Given the description of an element on the screen output the (x, y) to click on. 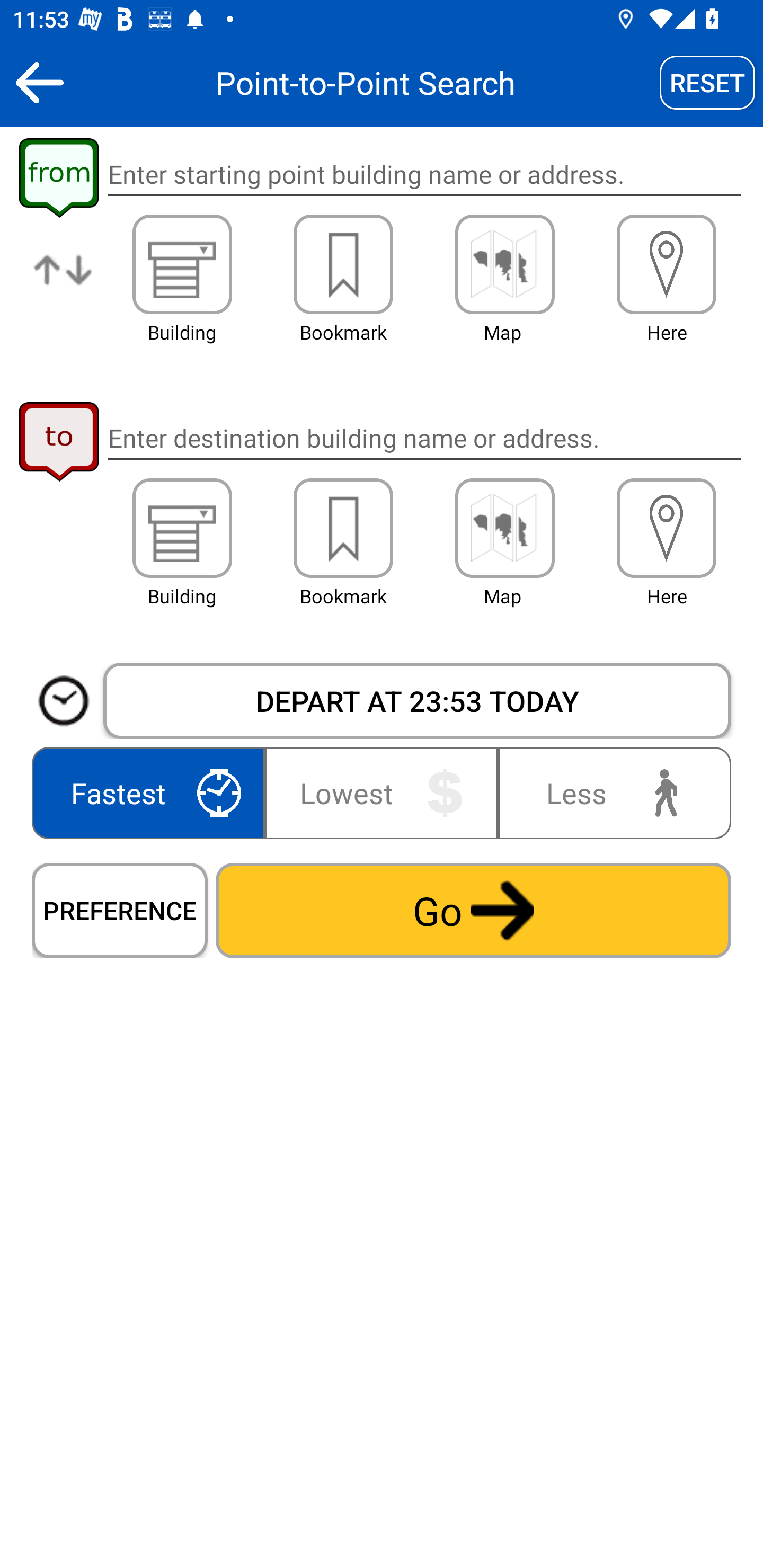
Back (39, 82)
RESET Reset (707, 81)
Enter starting point building name or address. (423, 174)
Building (181, 263)
Bookmarks (342, 263)
Select location on map (504, 263)
Here (666, 263)
Swap origin and destination (63, 284)
Enter destination building name or address. (423, 437)
Building (181, 528)
Bookmarks (342, 528)
Select location on map (504, 528)
Here (666, 528)
Lowest (381, 792)
Fastest selected (151, 792)
Less (610, 792)
PREFERENCE Preference (119, 910)
Go (472, 910)
